Given the description of an element on the screen output the (x, y) to click on. 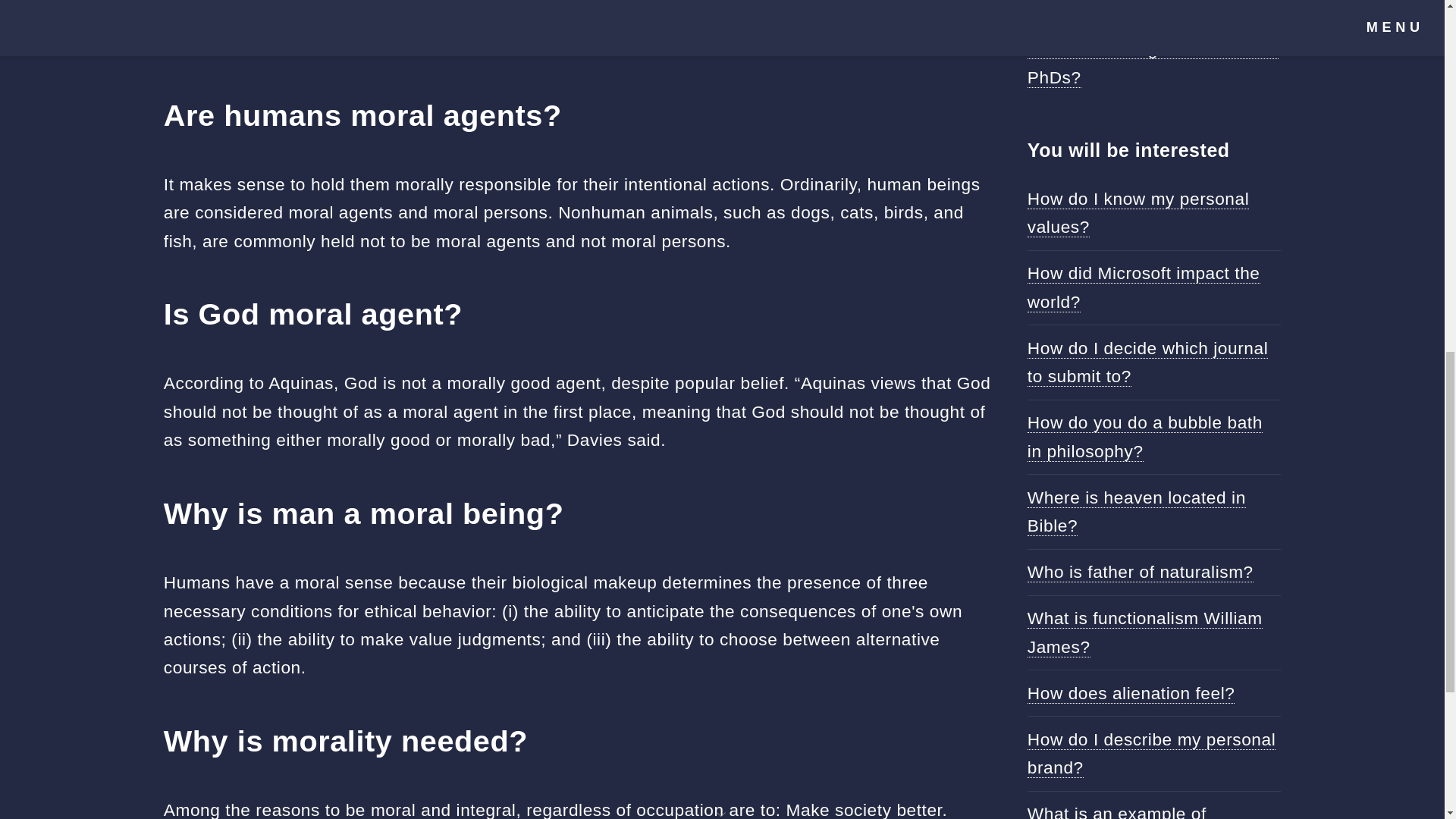
How did Microsoft impact the world? (1143, 287)
What is full PHC? (1098, 6)
Who is father of naturalism? (1140, 571)
What is an example of preservation? (1117, 811)
How does alienation feel? (1130, 693)
How do I describe my personal brand? (1151, 753)
How do you do a bubble bath in philosophy? (1144, 436)
What is functionalism William James? (1144, 632)
How do I know my personal values? (1138, 213)
Who has the highest number of PhDs? (1152, 62)
Where is heaven located in Bible? (1136, 511)
How do I decide which journal to submit to? (1147, 362)
